Given the description of an element on the screen output the (x, y) to click on. 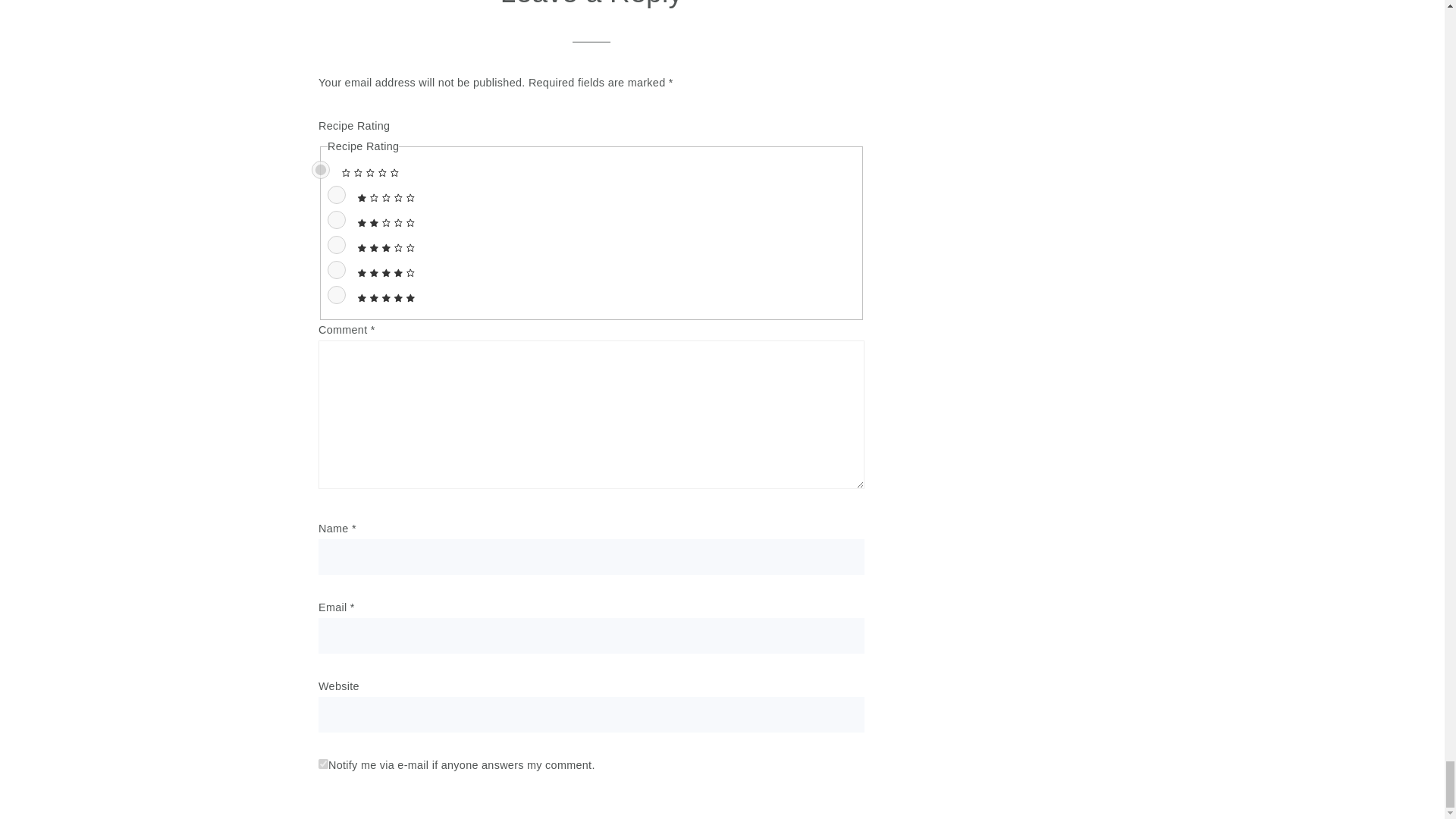
2 (336, 219)
1 (336, 194)
5 (336, 294)
3 (336, 244)
0 (320, 169)
4 (336, 270)
on (323, 764)
